Given the description of an element on the screen output the (x, y) to click on. 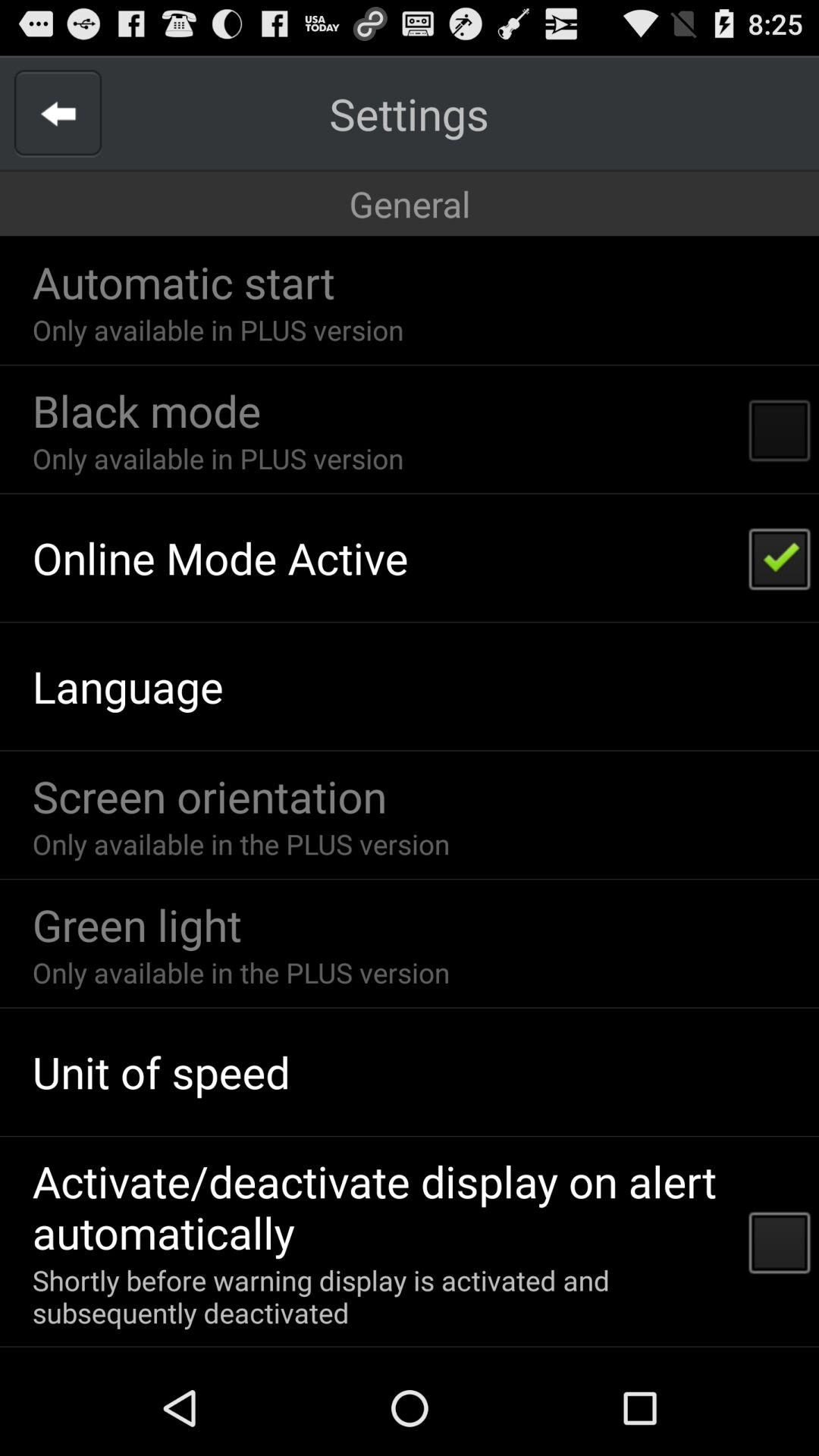
turn on item next to the settings icon (57, 113)
